Given the description of an element on the screen output the (x, y) to click on. 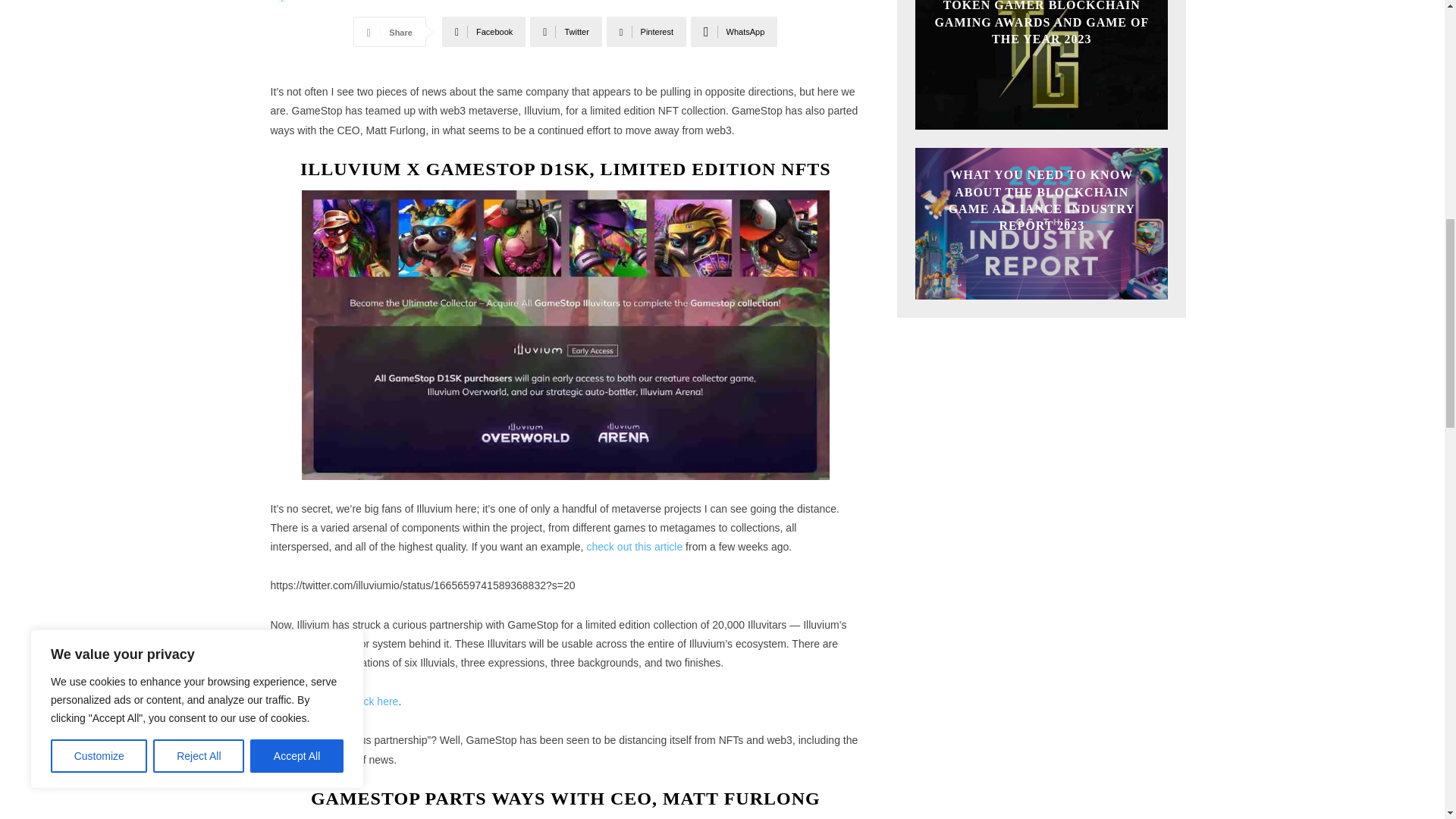
Robert Baggs (284, 0)
Facebook (483, 31)
Pinterest (646, 31)
WhatsApp (733, 31)
Twitter (565, 31)
